Given the description of an element on the screen output the (x, y) to click on. 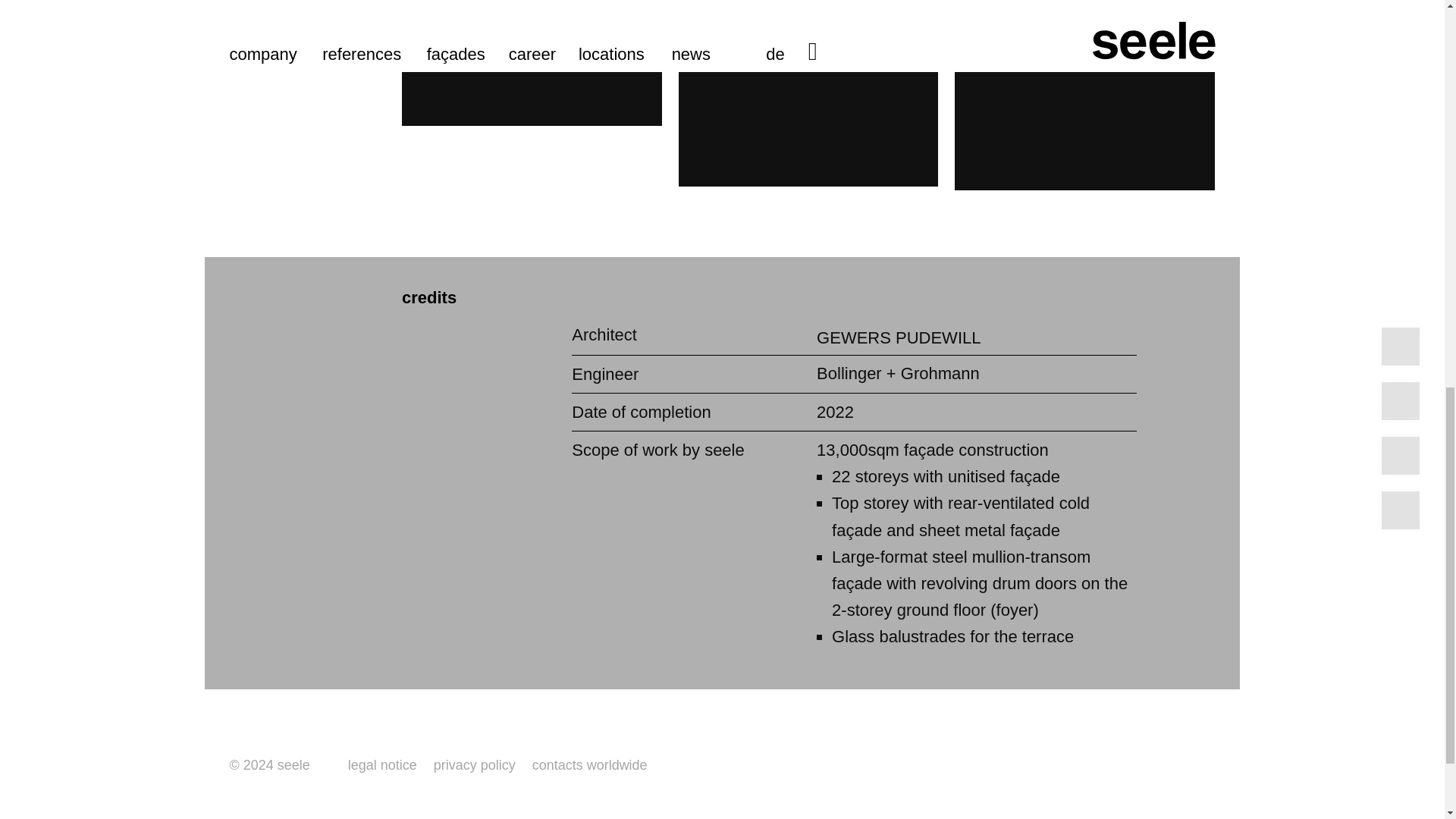
legal notice (381, 765)
Privacy Policy (474, 765)
contacts worldwide (589, 765)
